Given the description of an element on the screen output the (x, y) to click on. 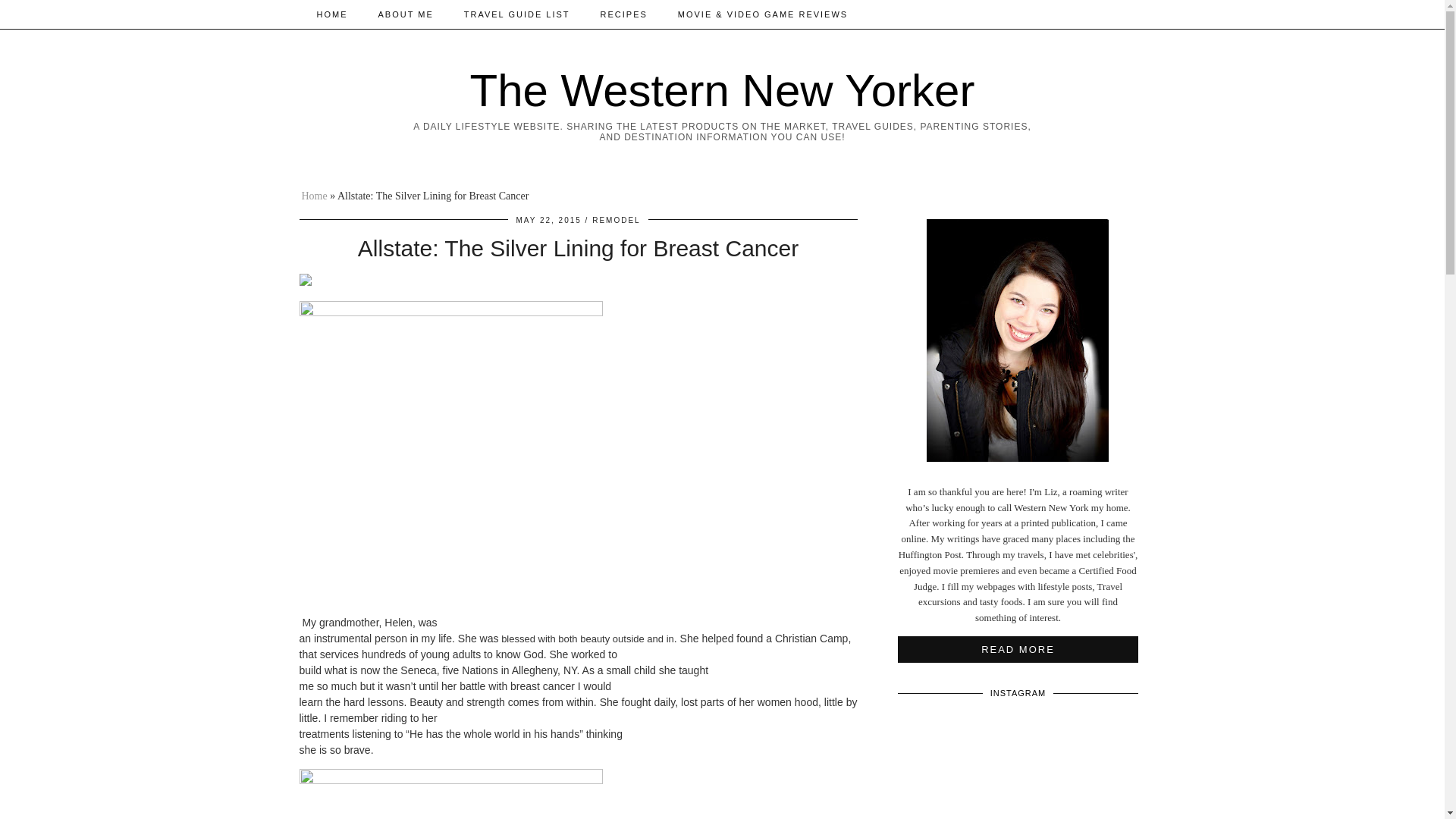
ABOUT ME (405, 14)
REMODEL (616, 220)
RECIPES (623, 14)
HOME (331, 14)
The Western New Yorker (722, 90)
TRAVEL GUIDE LIST (516, 14)
Home (314, 195)
The Western New Yorker (722, 90)
